Given the description of an element on the screen output the (x, y) to click on. 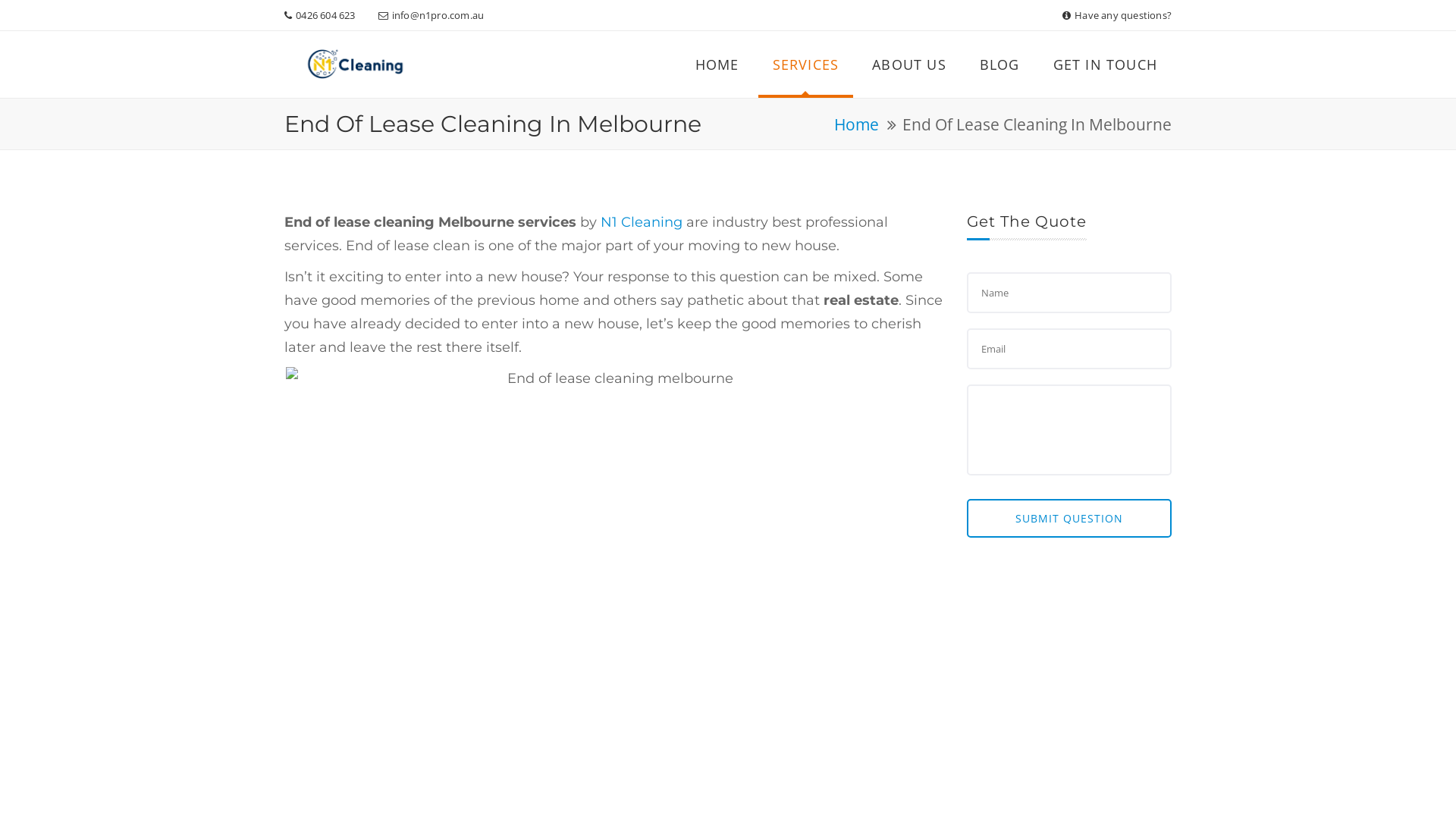
HOME Element type: text (716, 64)
BLOG Element type: text (999, 64)
Have any questions? Element type: text (1122, 14)
info@n1pro.com.au Element type: text (437, 14)
SERVICES Element type: text (805, 64)
Home Element type: text (856, 123)
0426 604 623 Element type: text (324, 14)
ABOUT US Element type: text (908, 64)
N1 Cleaning Element type: text (641, 221)
N1 Cleaning Element type: hover (355, 63)
N1 Cleaning Element type: hover (355, 66)
GET IN TOUCH Element type: text (1104, 64)
Submit Question Element type: text (1068, 517)
